Given the description of an element on the screen output the (x, y) to click on. 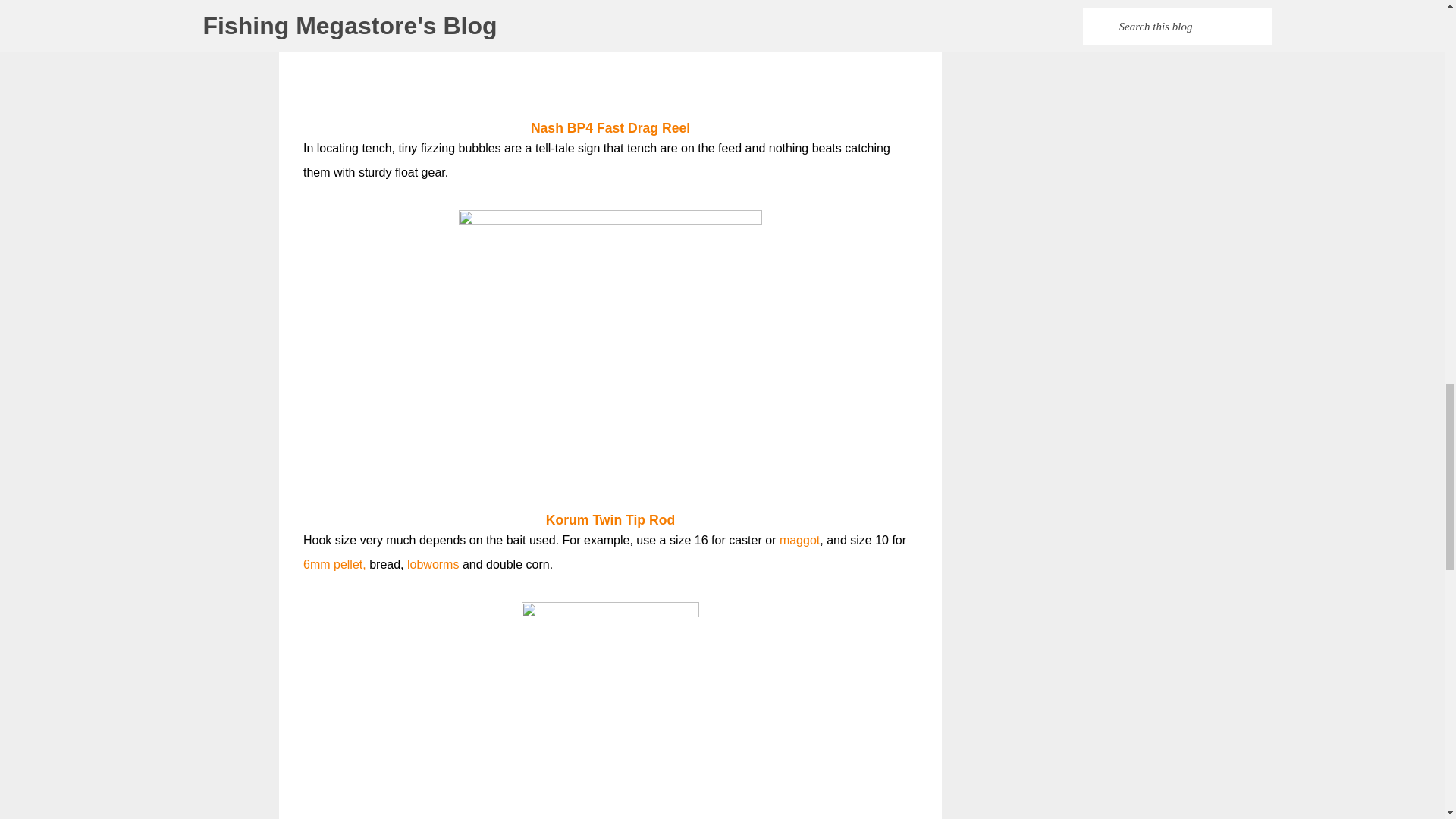
maggot (798, 540)
Korum Twin Tip Rod (610, 519)
Nash BP4 Fast Drag Reel (610, 127)
lobworms (432, 563)
6mm pellet, (334, 563)
